Given the description of an element on the screen output the (x, y) to click on. 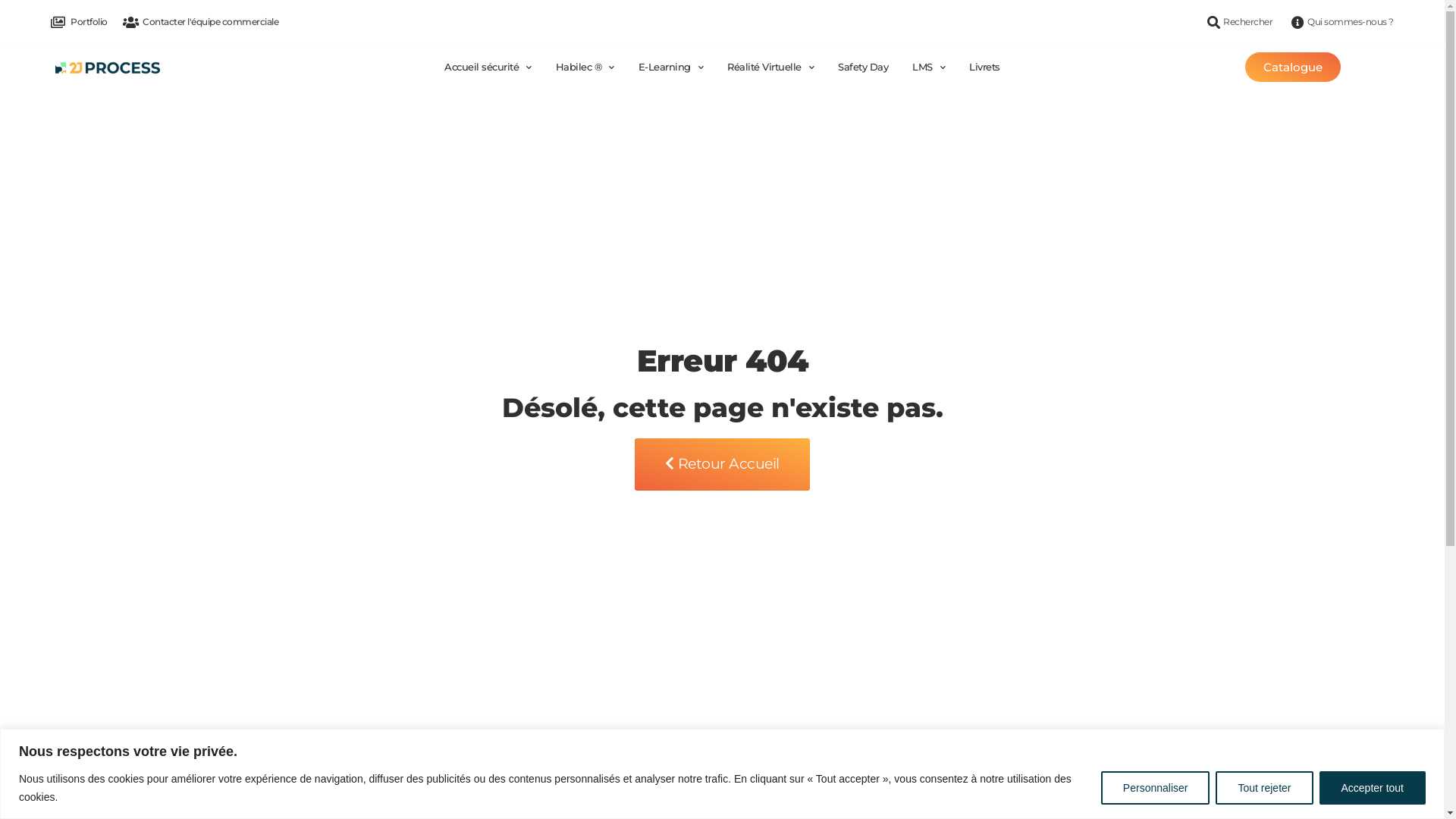
Rechercher Element type: text (1237, 21)
Tout rejeter Element type: text (1263, 786)
E-Learning Element type: text (664, 67)
Qui sommes-nous ? Element type: text (1340, 21)
Portfolio Element type: text (78, 21)
Catalogue Element type: text (1292, 66)
Personnaliser Element type: text (1155, 786)
Safety Day Element type: text (862, 67)
Retour Accueil Element type: text (721, 464)
Accepter tout Element type: text (1372, 786)
Livrets Element type: text (984, 67)
